Given the description of an element on the screen output the (x, y) to click on. 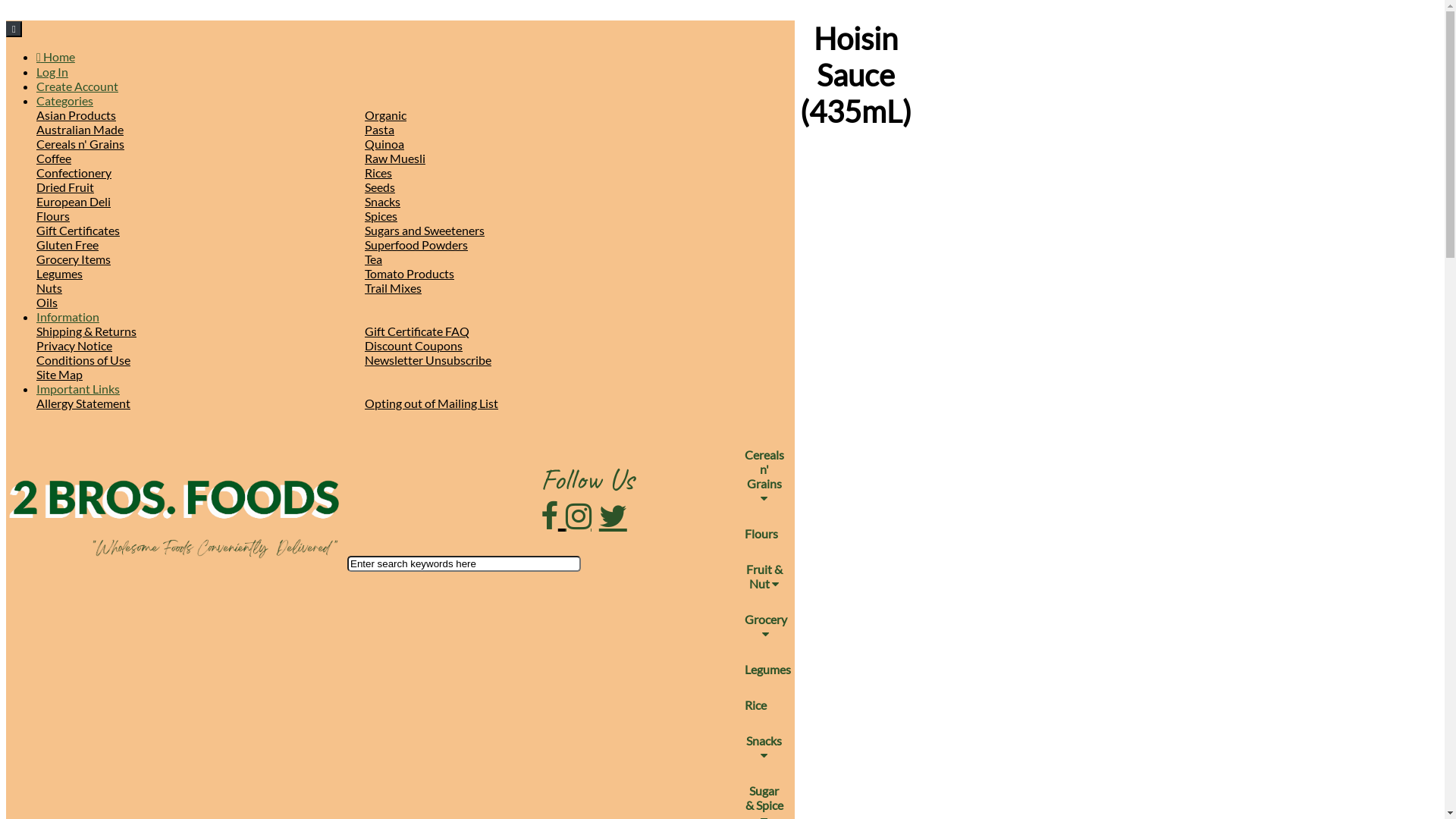
Tea Element type: text (373, 258)
European Deli Element type: text (73, 201)
Trail Mixes Element type: text (392, 287)
Information Element type: text (67, 316)
Snacks Element type: text (764, 747)
Seeds Element type: text (379, 186)
Asian Products Element type: text (76, 114)
Newsletter Unsubscribe Element type: text (427, 359)
Cereals n' Grains Element type: text (764, 475)
Fruit & Nut Element type: text (764, 576)
Create Account Element type: text (77, 85)
Rices Element type: text (378, 172)
Spices Element type: text (380, 215)
Gluten Free Element type: text (67, 244)
Legumes Element type: text (767, 669)
Conditions of Use Element type: text (83, 359)
Superfood Powders Element type: text (415, 244)
Nuts Element type: text (49, 287)
Opting out of Mailing List Element type: text (431, 402)
Cereals n' Grains Element type: text (80, 143)
Rice Element type: text (755, 704)
Oils Element type: text (46, 301)
Flours Element type: text (52, 215)
Privacy Notice Element type: text (74, 345)
Pasta Element type: text (379, 129)
Dried Fruit Element type: text (65, 186)
Important Links Element type: text (77, 388)
Tomato Products Element type: text (409, 273)
Flours Element type: text (761, 533)
Gift Certificates Element type: text (77, 229)
Snacks Element type: text (382, 201)
Discount Coupons Element type: text (413, 345)
Raw Muesli Element type: text (394, 157)
Home Element type: text (55, 56)
Log In Element type: text (52, 71)
Grocery Items Element type: text (73, 258)
Categories Element type: text (64, 100)
Powered by Zen Cart :: The Art of E-Commerce Element type: hover (176, 507)
Site Map Element type: text (59, 374)
Sugars and Sweeteners Element type: text (424, 229)
Organic Element type: text (385, 114)
Quinoa Element type: text (384, 143)
Legumes Element type: text (59, 273)
Coffee Element type: text (53, 157)
Grocery Element type: text (765, 626)
Shipping & Returns Element type: text (86, 330)
Australian Made Element type: text (79, 129)
Confectionery Element type: text (73, 172)
Gift Certificate FAQ Element type: text (416, 330)
Allergy Statement Element type: text (83, 402)
